Given the description of an element on the screen output the (x, y) to click on. 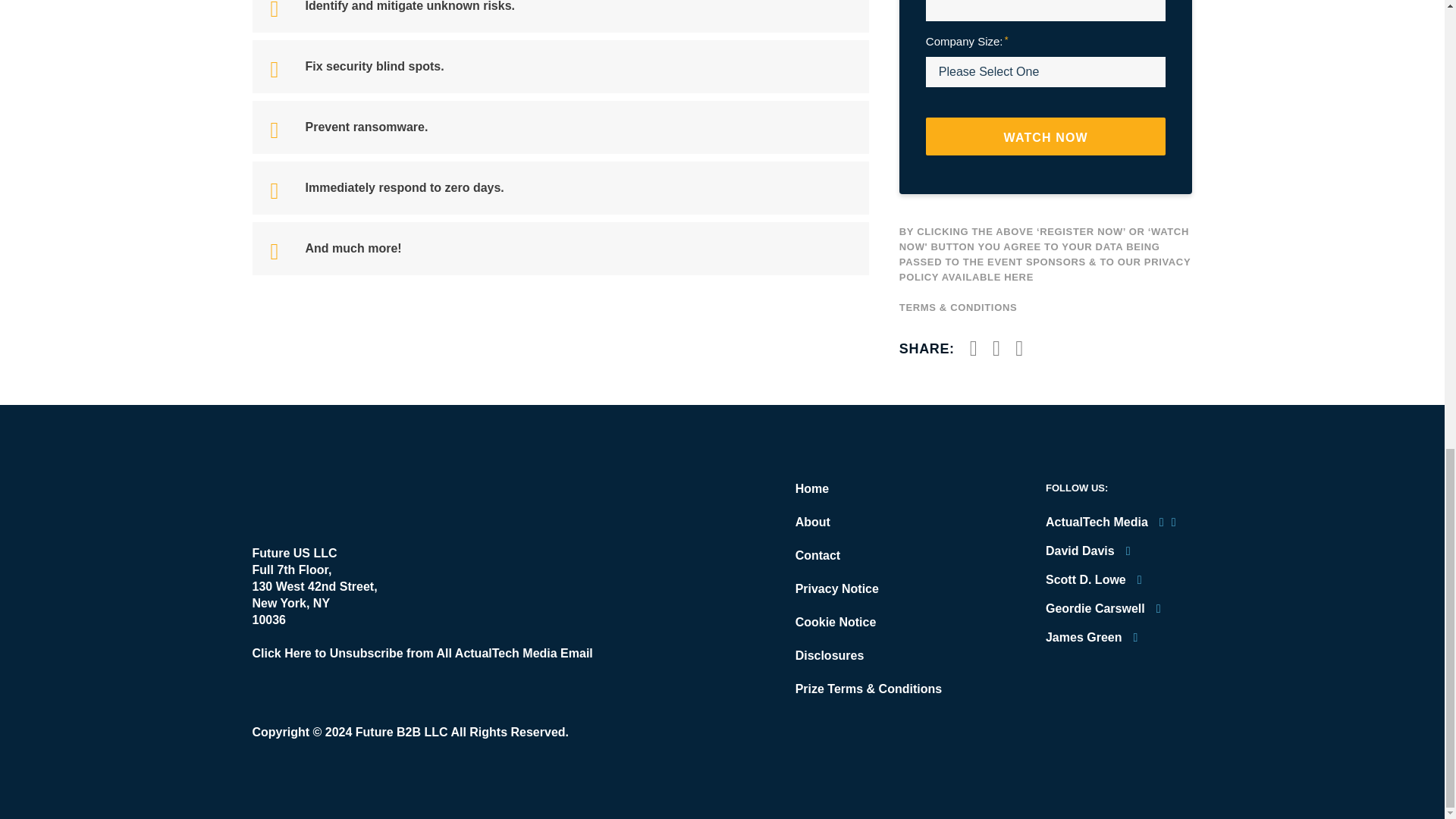
Click Here to Unsubscribe from All ActualTech Media Email (421, 653)
Home (811, 488)
About (811, 521)
Disclosures (829, 655)
Privacy Notice (836, 588)
Cookie Notice (835, 621)
WATCH NOW (1046, 136)
ActualTech Media (336, 497)
Contact (817, 554)
Please Select One (1046, 71)
